Given the description of an element on the screen output the (x, y) to click on. 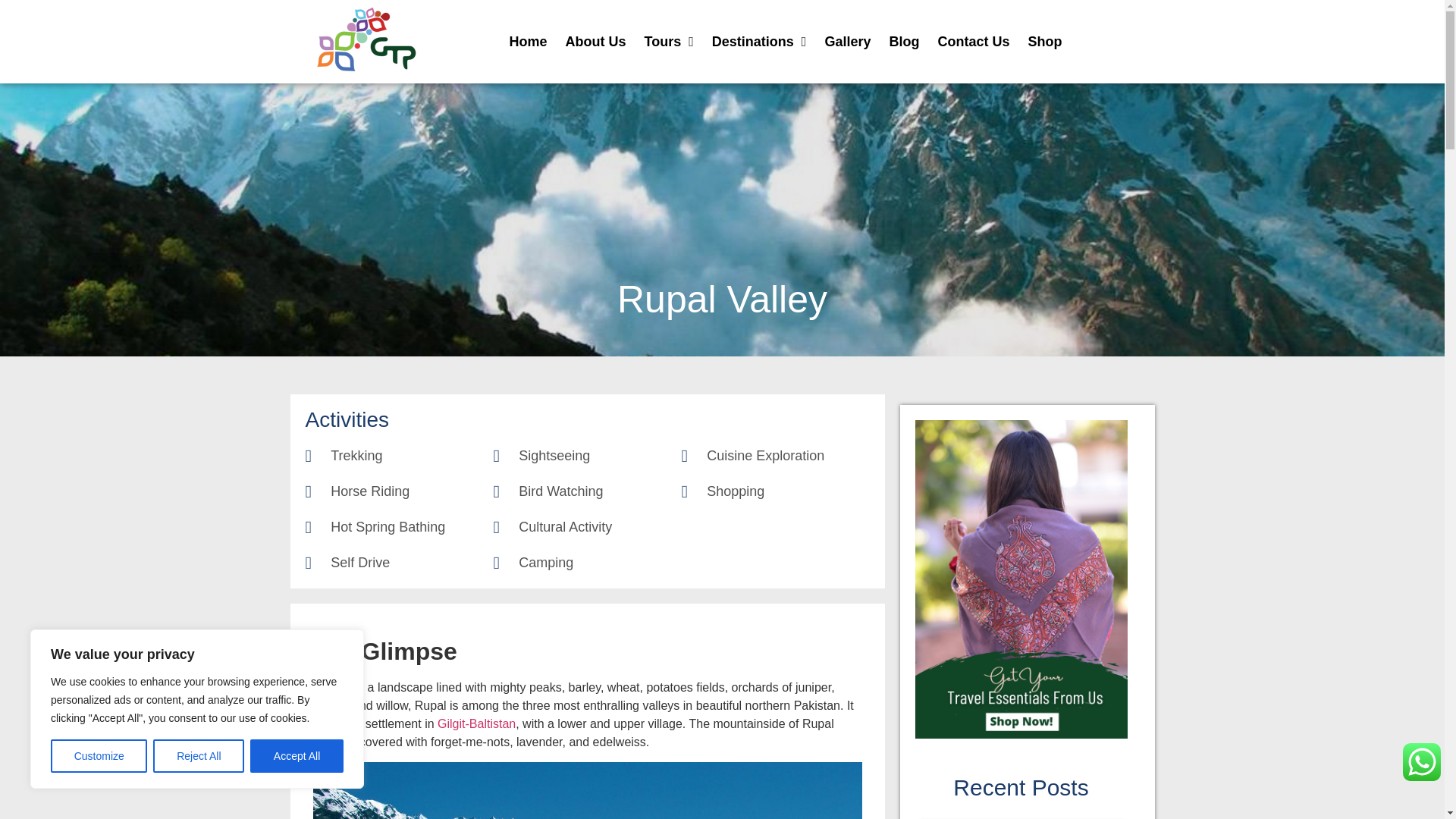
Home (528, 41)
Reject All (198, 756)
About Us (595, 41)
Tours (668, 41)
Destinations (759, 41)
cropped-logo-removebg-preview (366, 41)
Gallery (847, 41)
Accept All (296, 756)
Customize (98, 756)
